Given the description of an element on the screen output the (x, y) to click on. 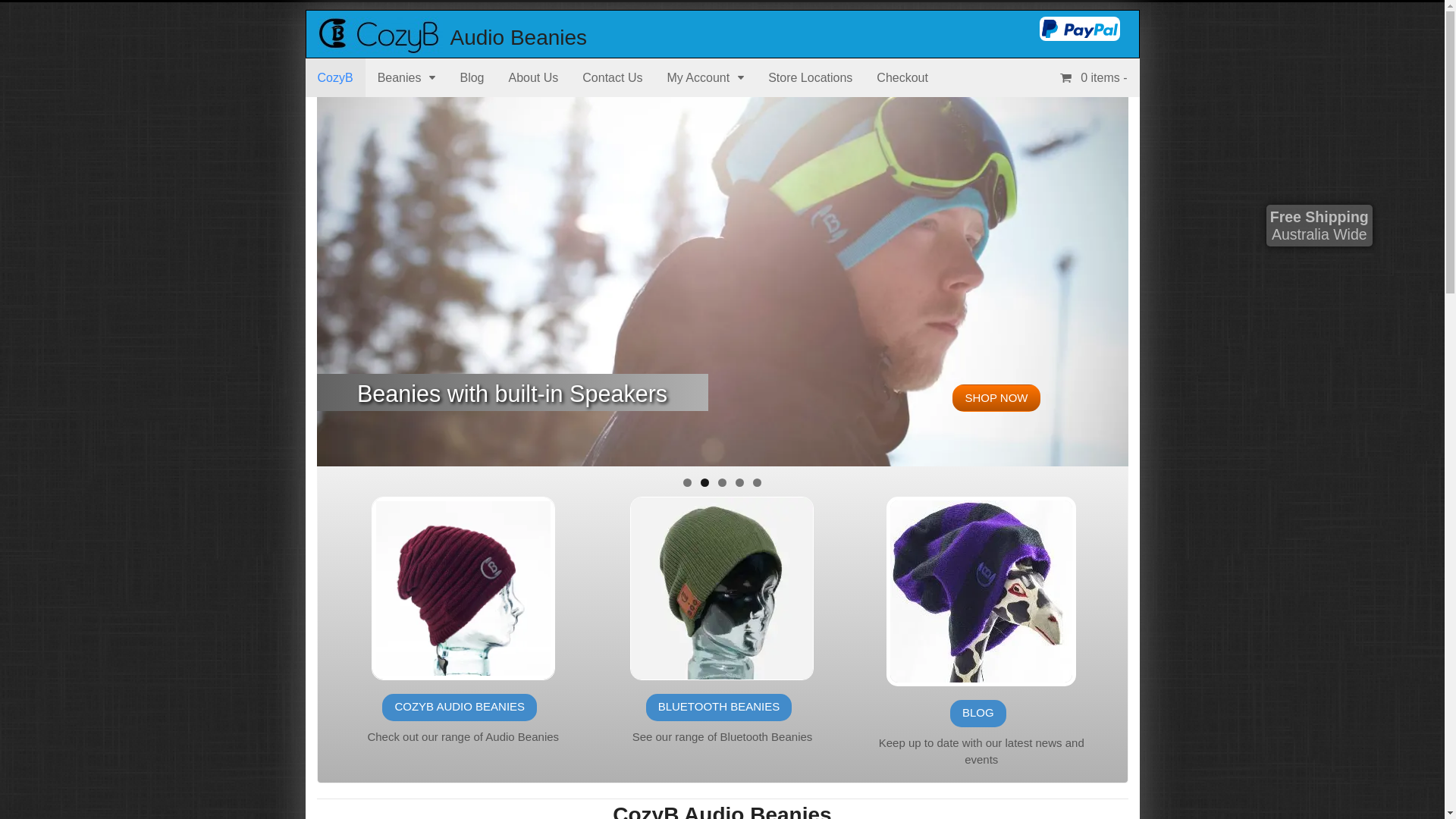
1 Element type: text (687, 482)
2 Element type: text (704, 482)
COZYB AUDIO BEANIES Element type: text (459, 707)
About Us Element type: text (532, 77)
Contact Us Element type: text (612, 77)
Blog Element type: text (471, 77)
BLUETOOTH BEANIES Element type: text (719, 707)
CozyB Element type: text (334, 77)
SHOP NOW Element type: text (995, 397)
4 Element type: text (739, 482)
Beanies Element type: text (406, 77)
0 items - Element type: text (1093, 76)
Get Cozy Element type: hover (379, 45)
My Account Element type: text (705, 77)
3 Element type: text (722, 482)
BLOG Element type: text (978, 713)
Store Locations Element type: text (810, 77)
Checkout Element type: text (902, 77)
5 Element type: text (757, 482)
